Given the description of an element on the screen output the (x, y) to click on. 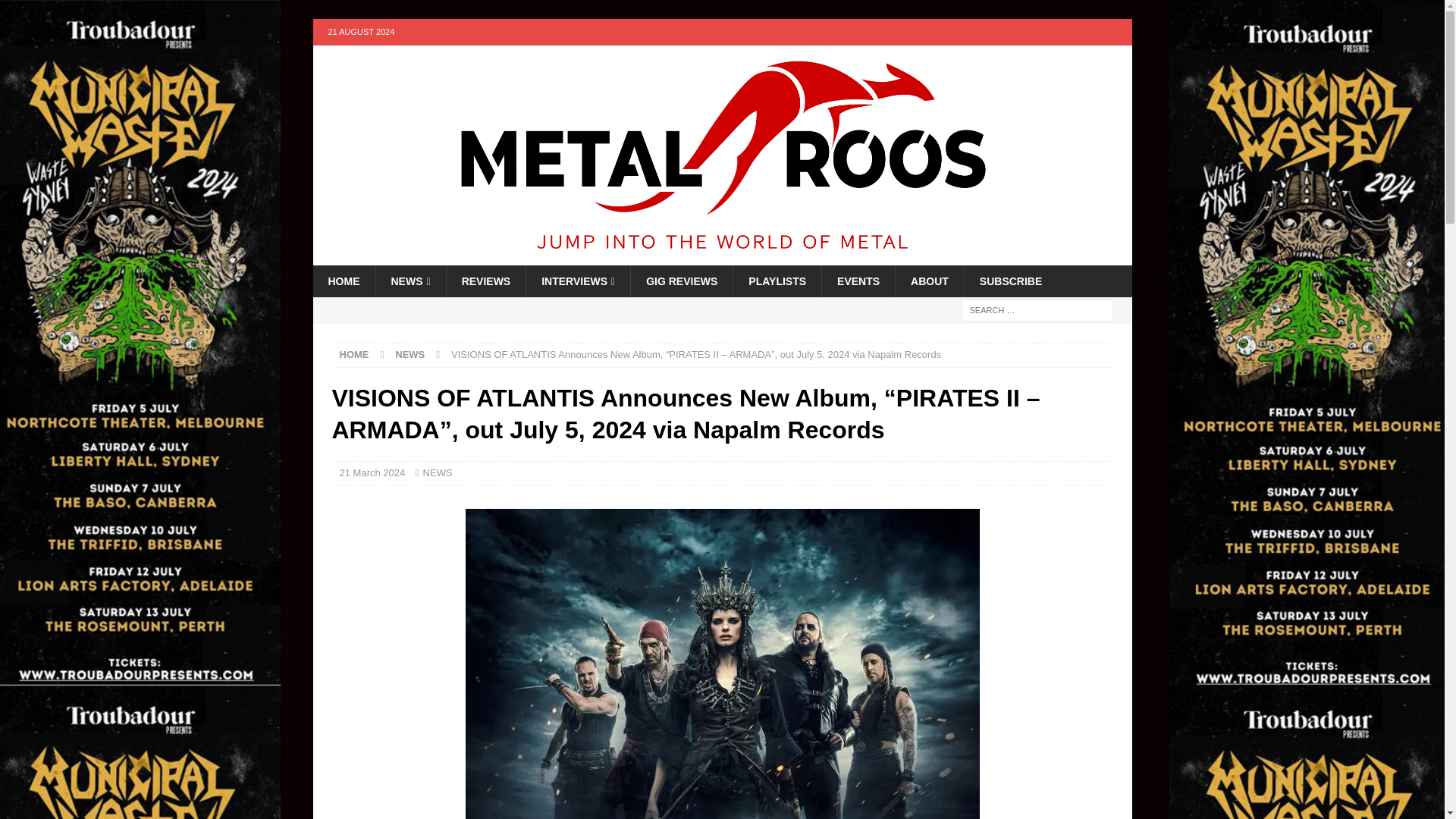
HOME (343, 281)
NEWS (409, 354)
21 March 2024 (372, 472)
ABOUT (929, 281)
NEWS (437, 472)
PLAYLISTS (776, 281)
INTERVIEWS (577, 281)
SUBSCRIBE (1010, 281)
GIG REVIEWS (681, 281)
EVENTS (858, 281)
